Given the description of an element on the screen output the (x, y) to click on. 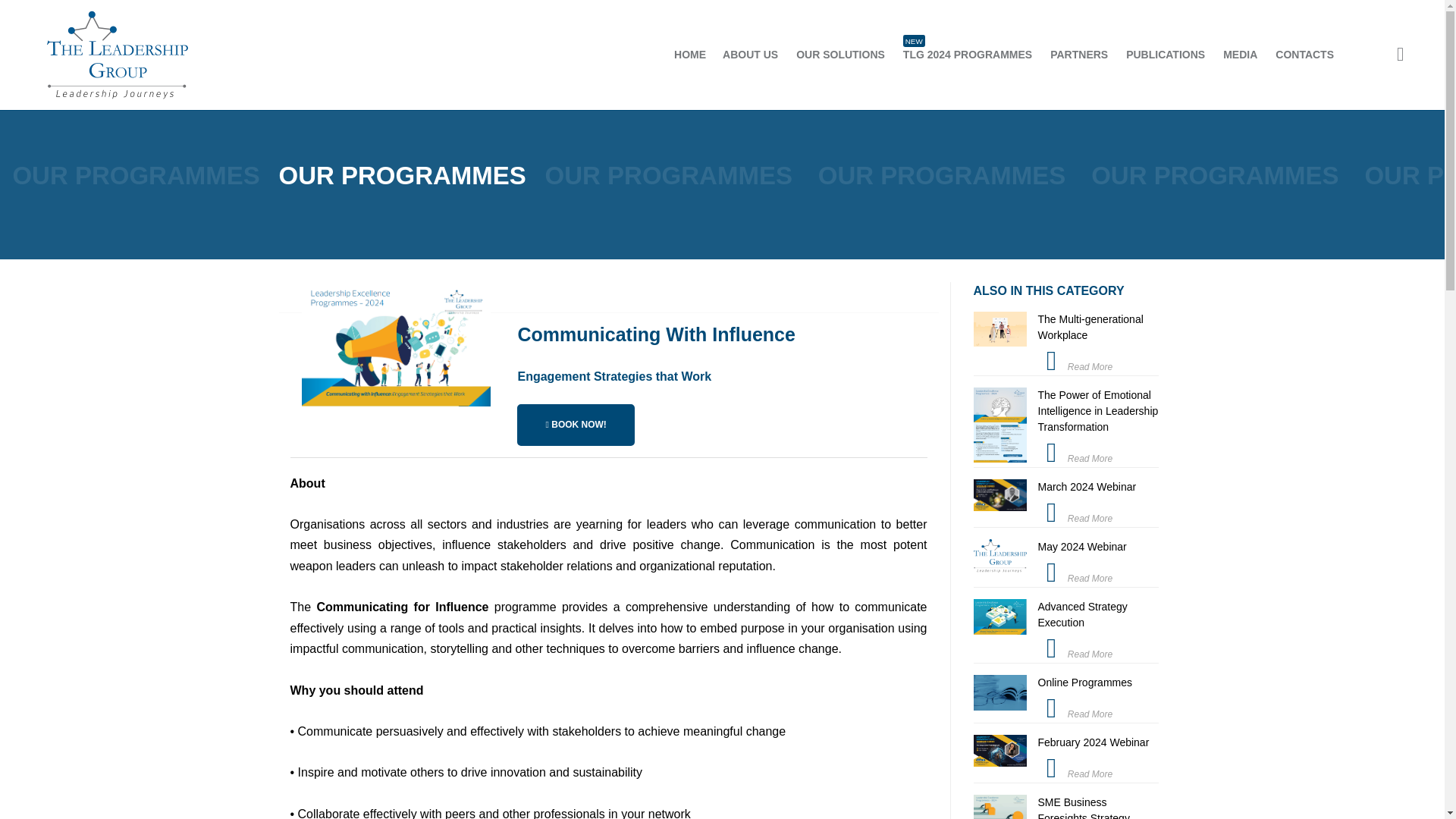
BOOK NOW! (1066, 503)
CONTACTS (574, 424)
OUR SOLUTIONS (1304, 55)
PARTNERS (840, 55)
ABOUT US (1078, 55)
PUBLICATIONS (1066, 343)
